Given the description of an element on the screen output the (x, y) to click on. 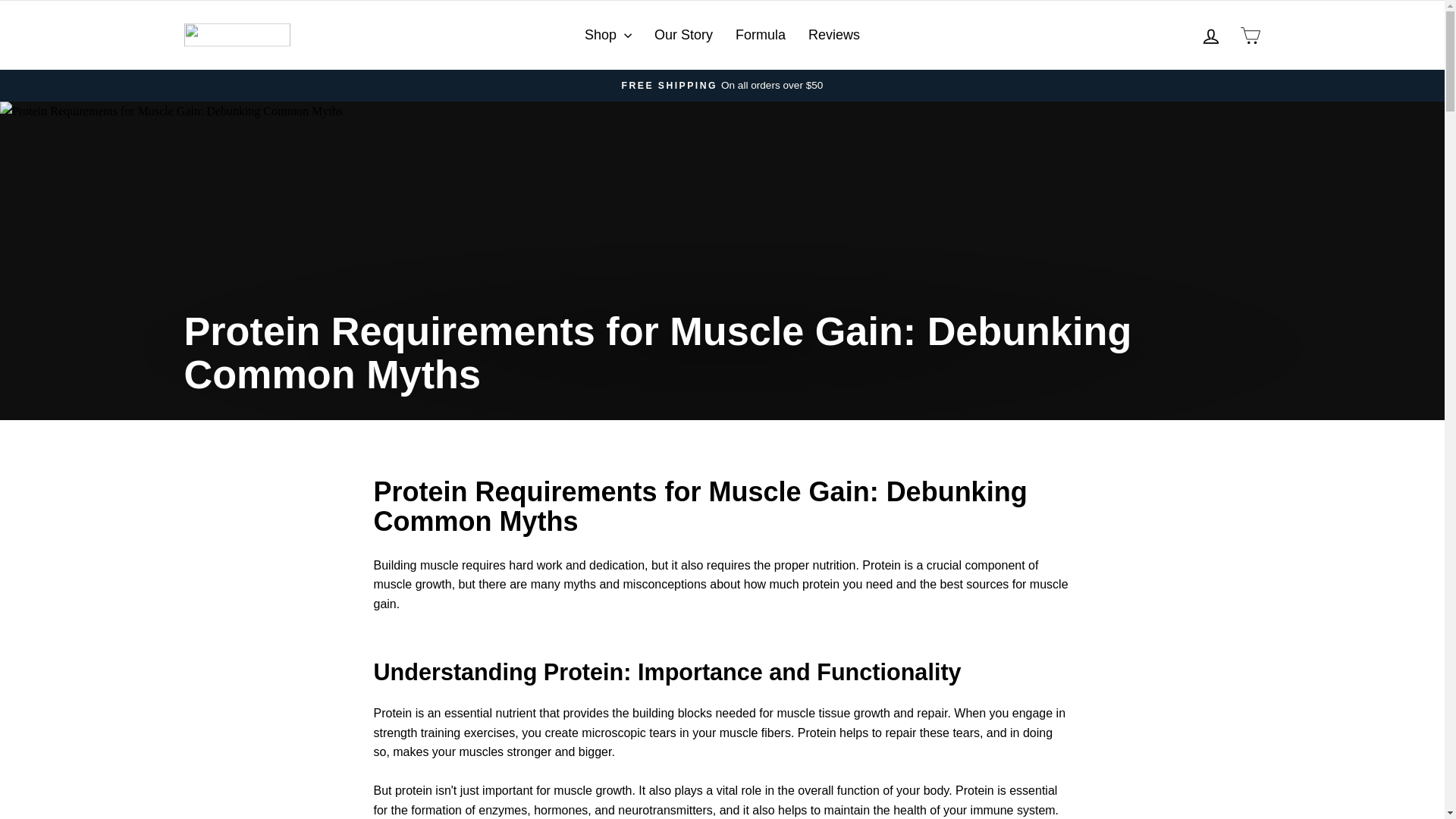
Cart (1249, 34)
account (1210, 35)
Our Story (683, 35)
Formula (759, 35)
Reviews (833, 35)
